Given the description of an element on the screen output the (x, y) to click on. 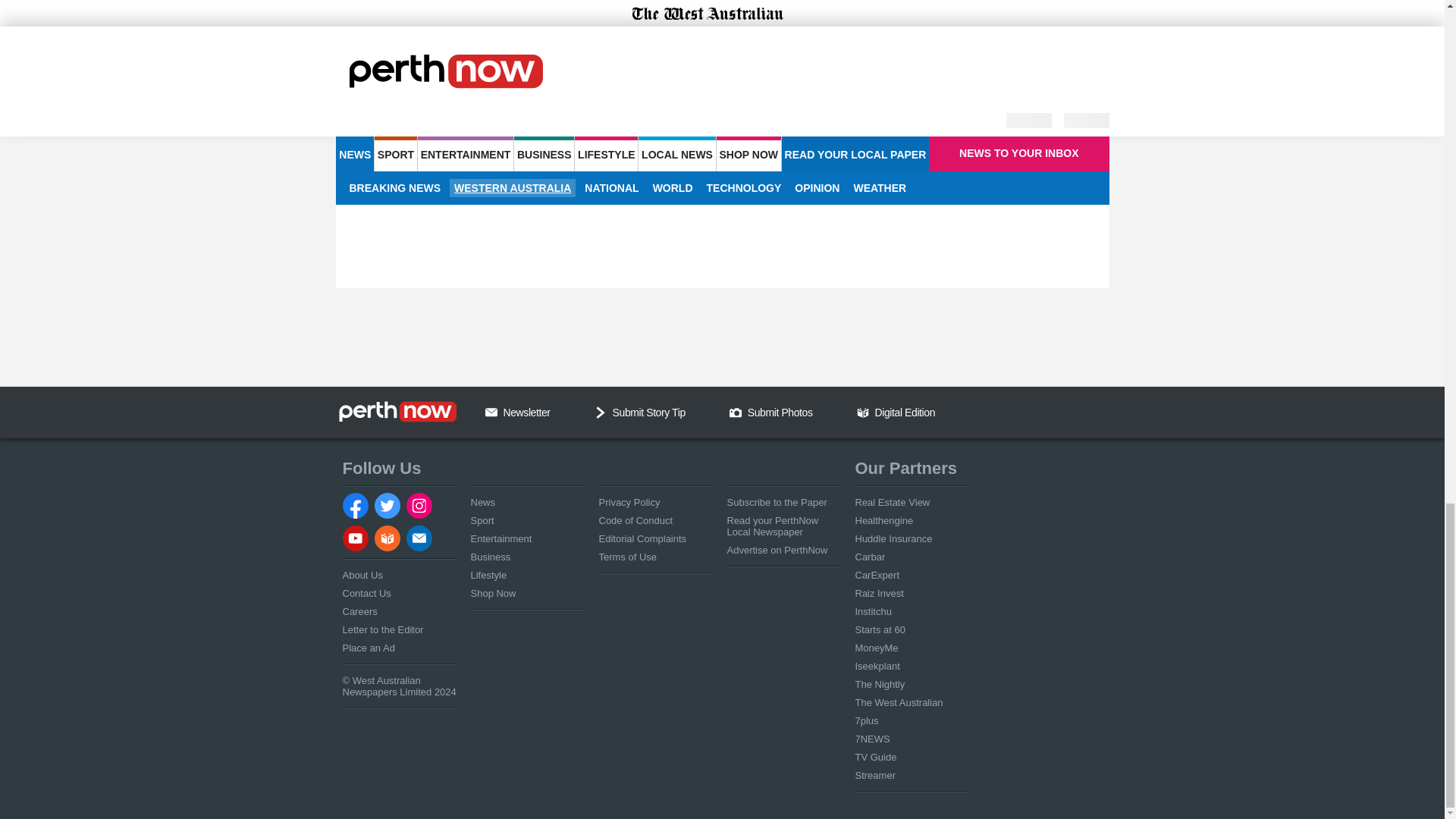
Chevron Down Icon (600, 412)
Email Us (490, 412)
Camera Icon (735, 412)
Get Digital Edition (863, 412)
